Given the description of an element on the screen output the (x, y) to click on. 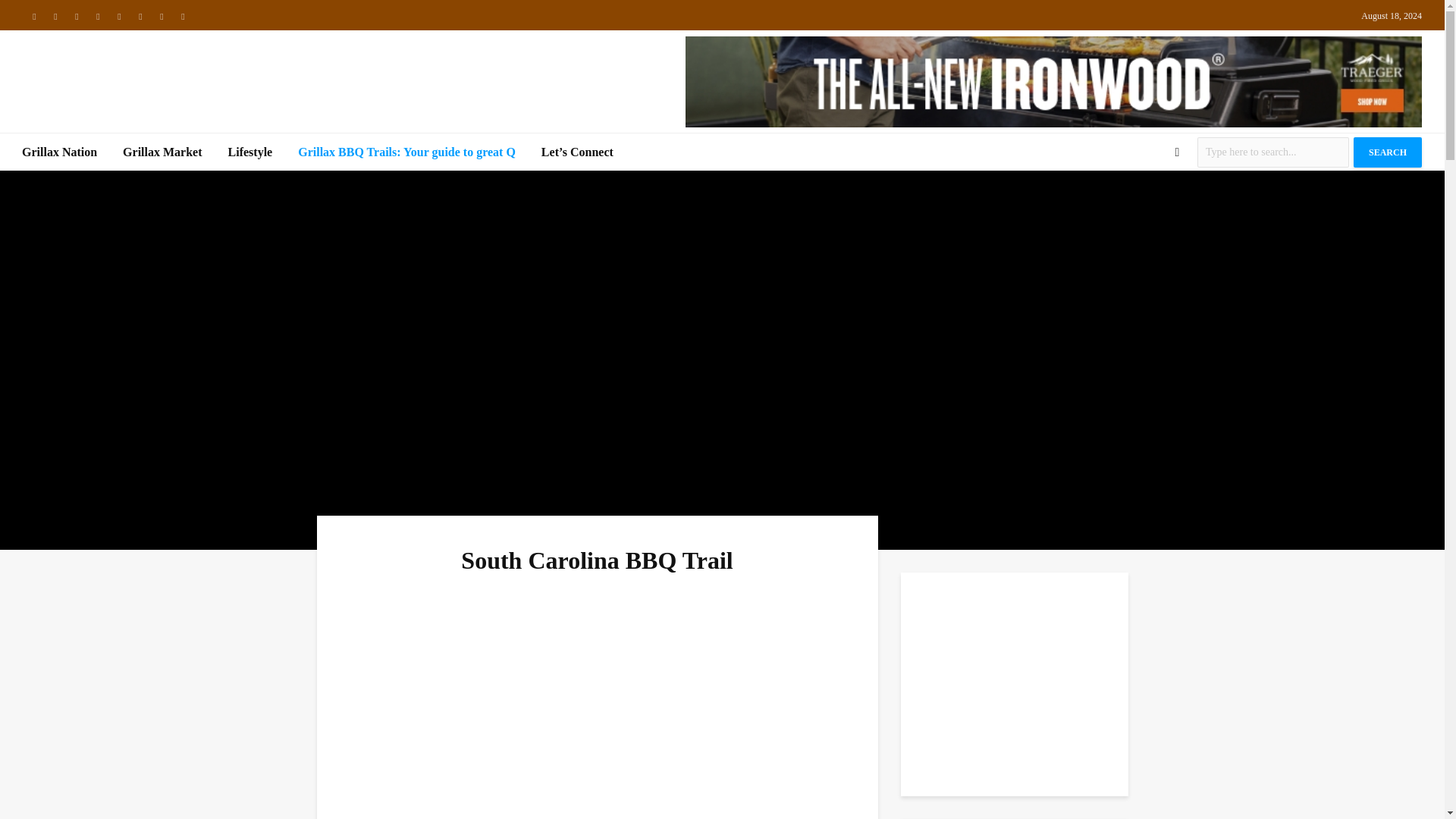
Lifestyle (249, 152)
Grillax BBQ Trails: Your guide to great Q (406, 152)
Grillax Market (162, 152)
Grillax Nation (58, 152)
SEARCH (1388, 152)
Grillax Nation (58, 152)
